Given the description of an element on the screen output the (x, y) to click on. 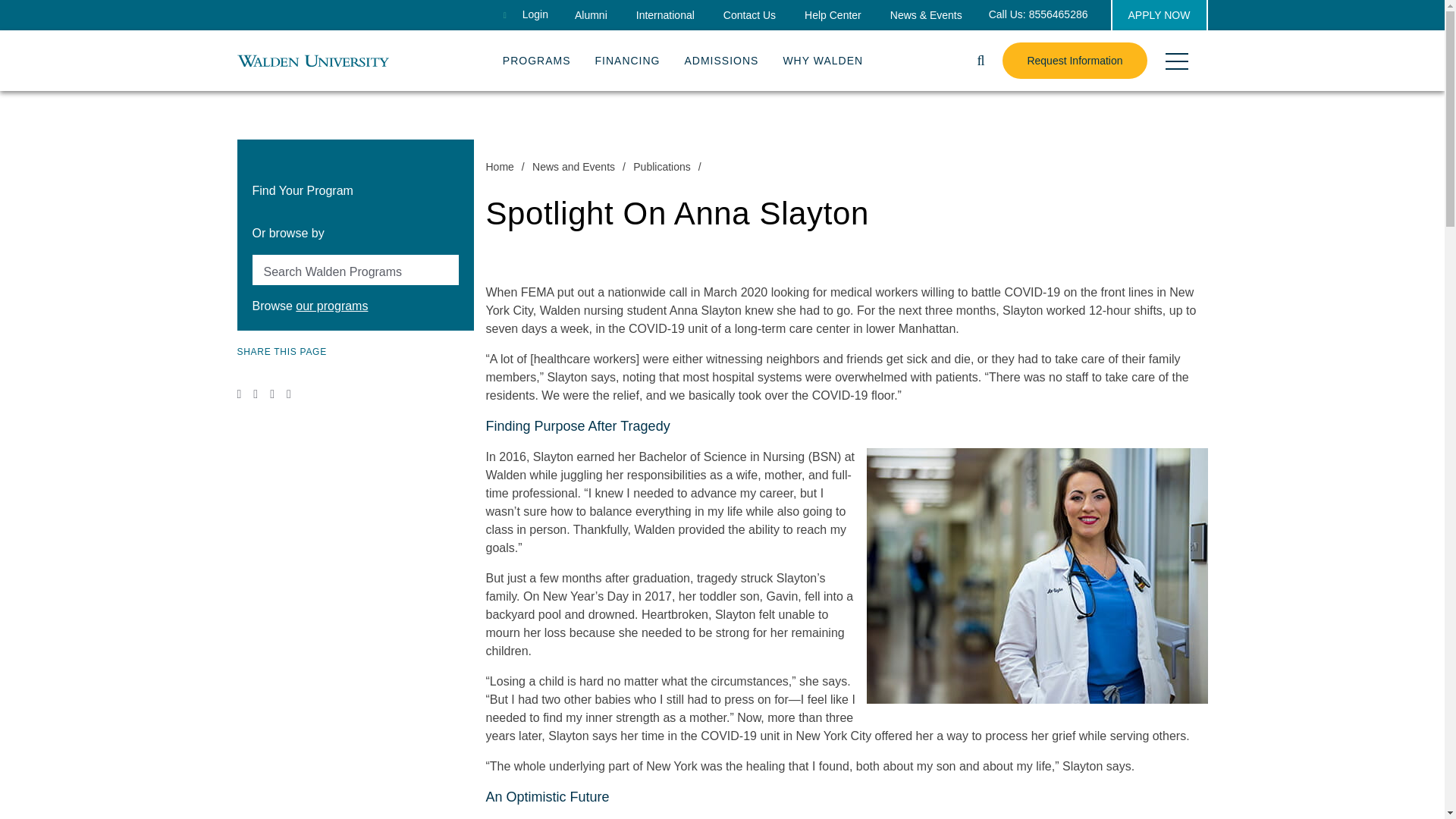
Walden Alumni (590, 15)
Home (311, 60)
Programs (536, 57)
